Given the description of an element on the screen output the (x, y) to click on. 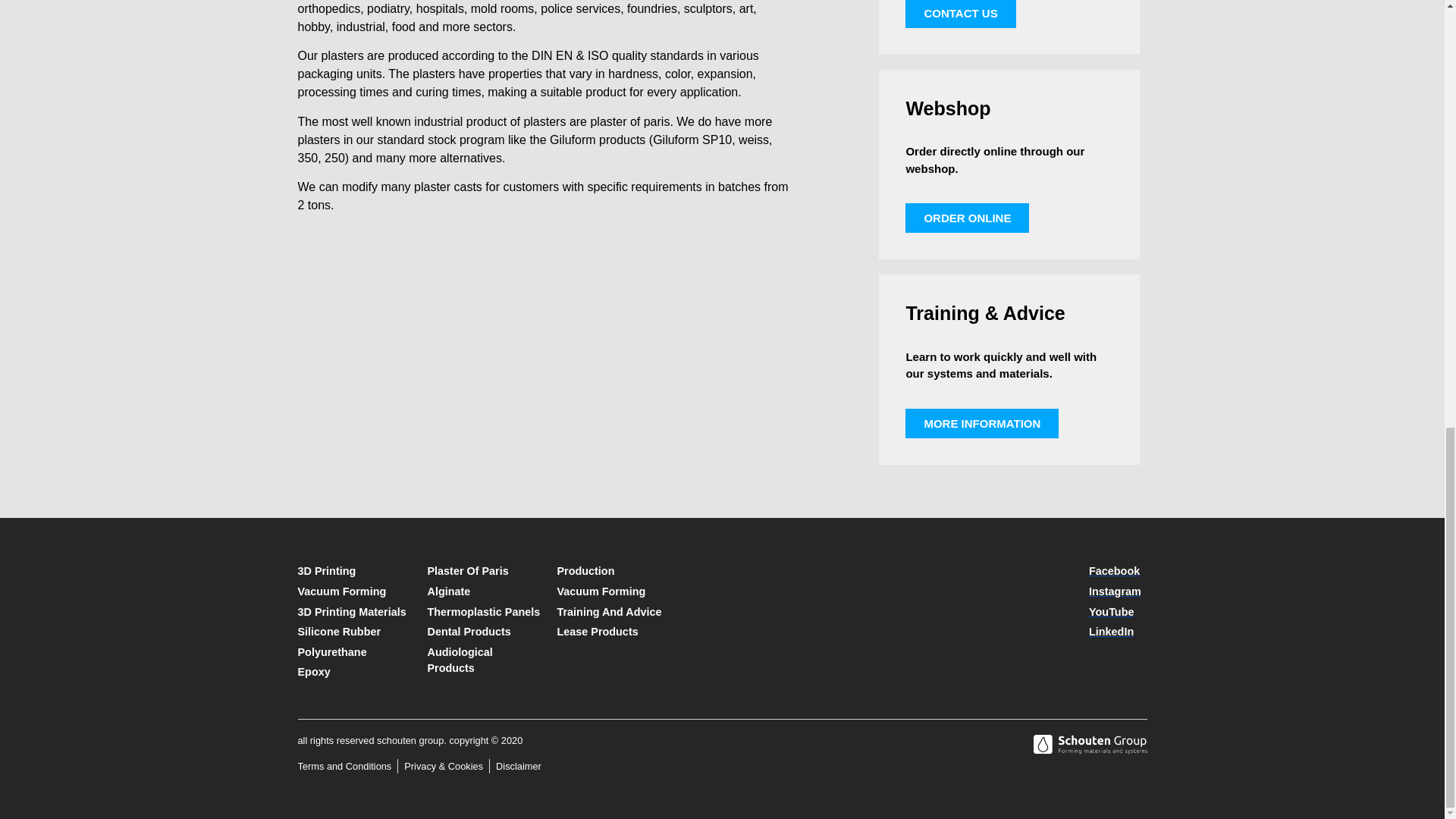
Alginate (484, 591)
ORDER ONLINE (967, 217)
Polyurethane (354, 652)
CONTACT US (959, 13)
Vacuum Forming (354, 591)
Epoxy (354, 672)
Silicone Rubber (354, 632)
Plaster Of Paris (484, 571)
MORE INFORMATION (981, 423)
3D Printing (354, 571)
3D Printing Materials (354, 612)
